Given the description of an element on the screen output the (x, y) to click on. 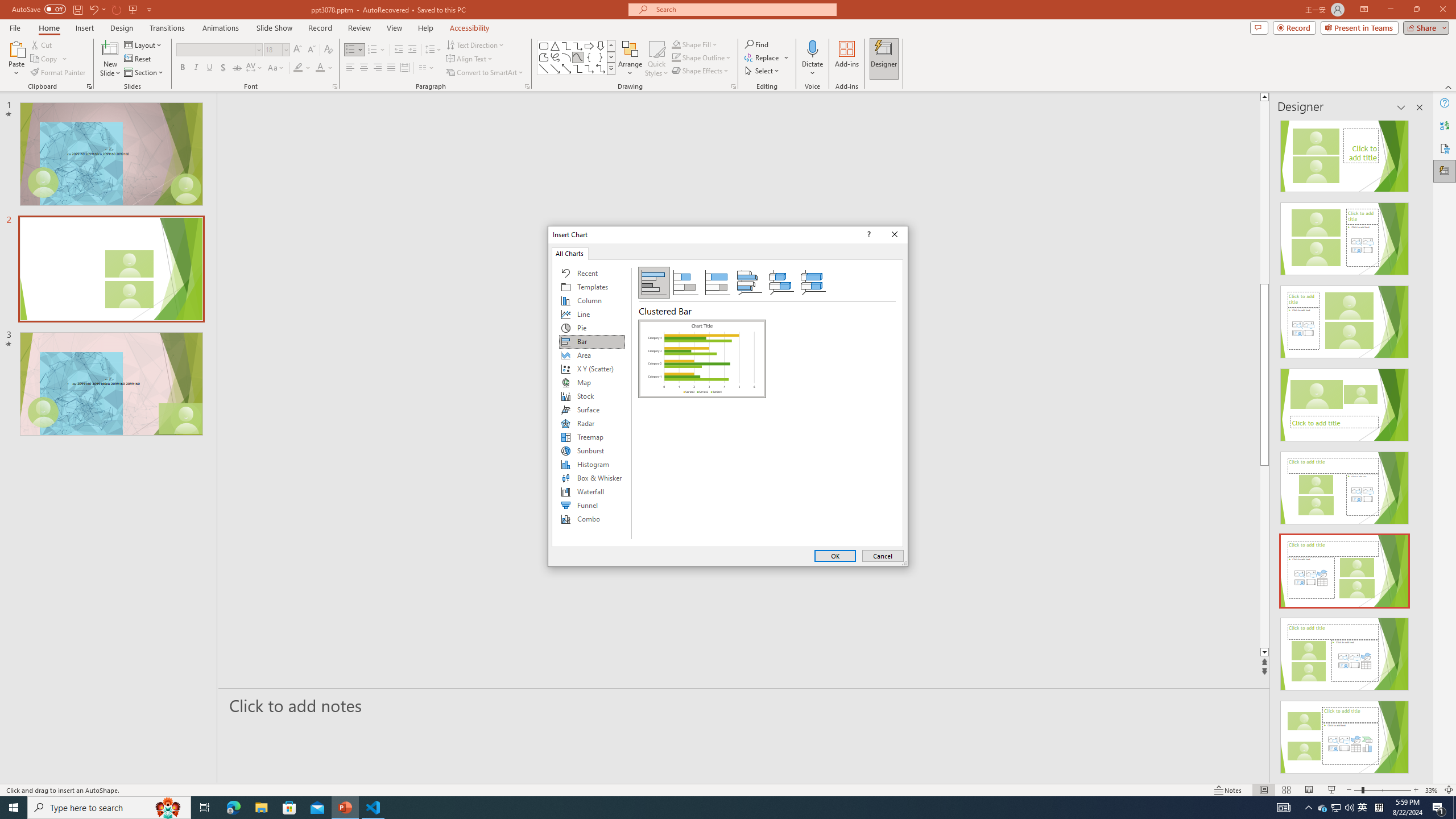
Change Case (276, 67)
Text Direction (476, 44)
Column (591, 300)
Text Highlight Color Yellow (297, 67)
